Given the description of an element on the screen output the (x, y) to click on. 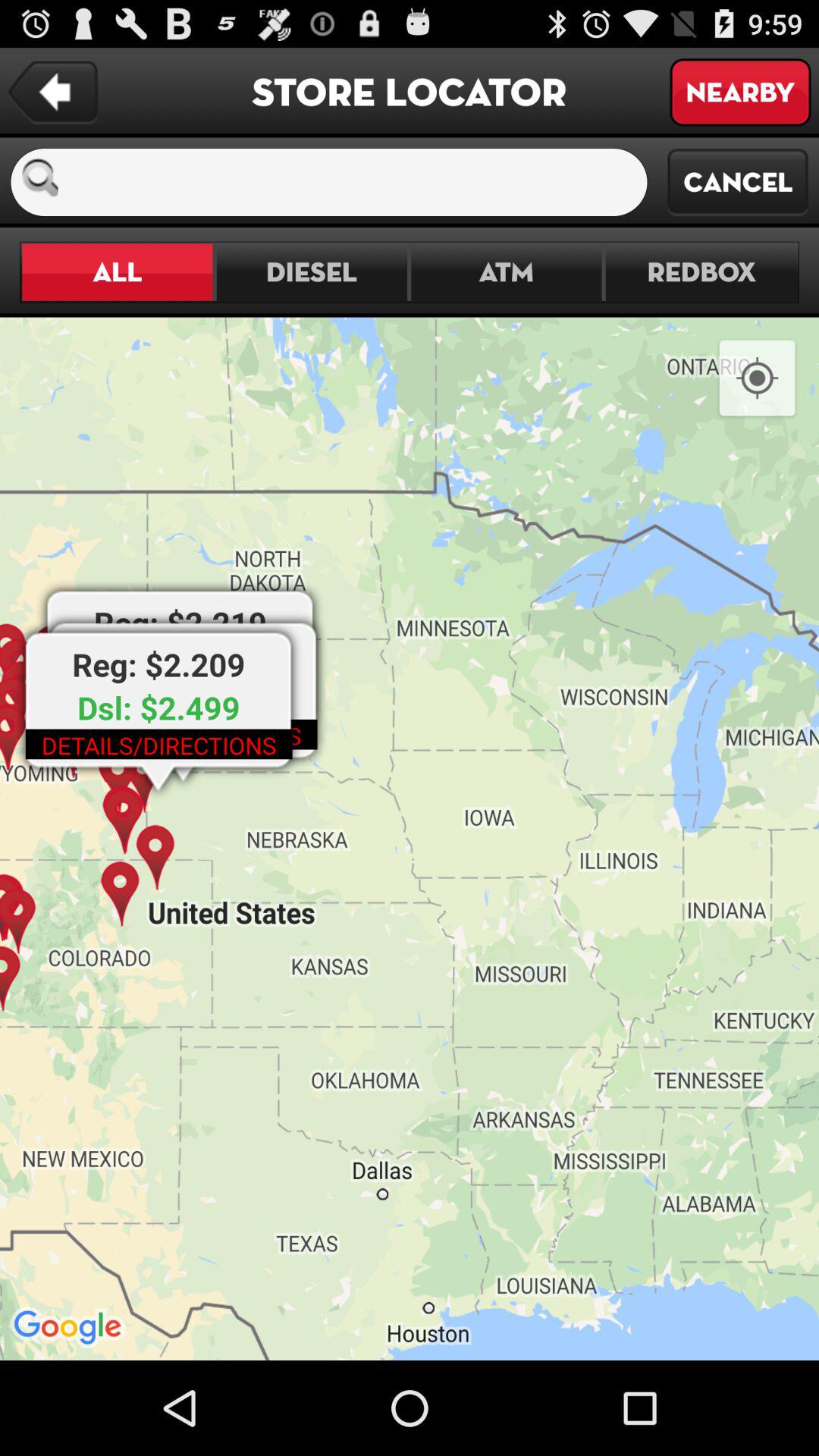
jump until the atm (506, 271)
